Given the description of an element on the screen output the (x, y) to click on. 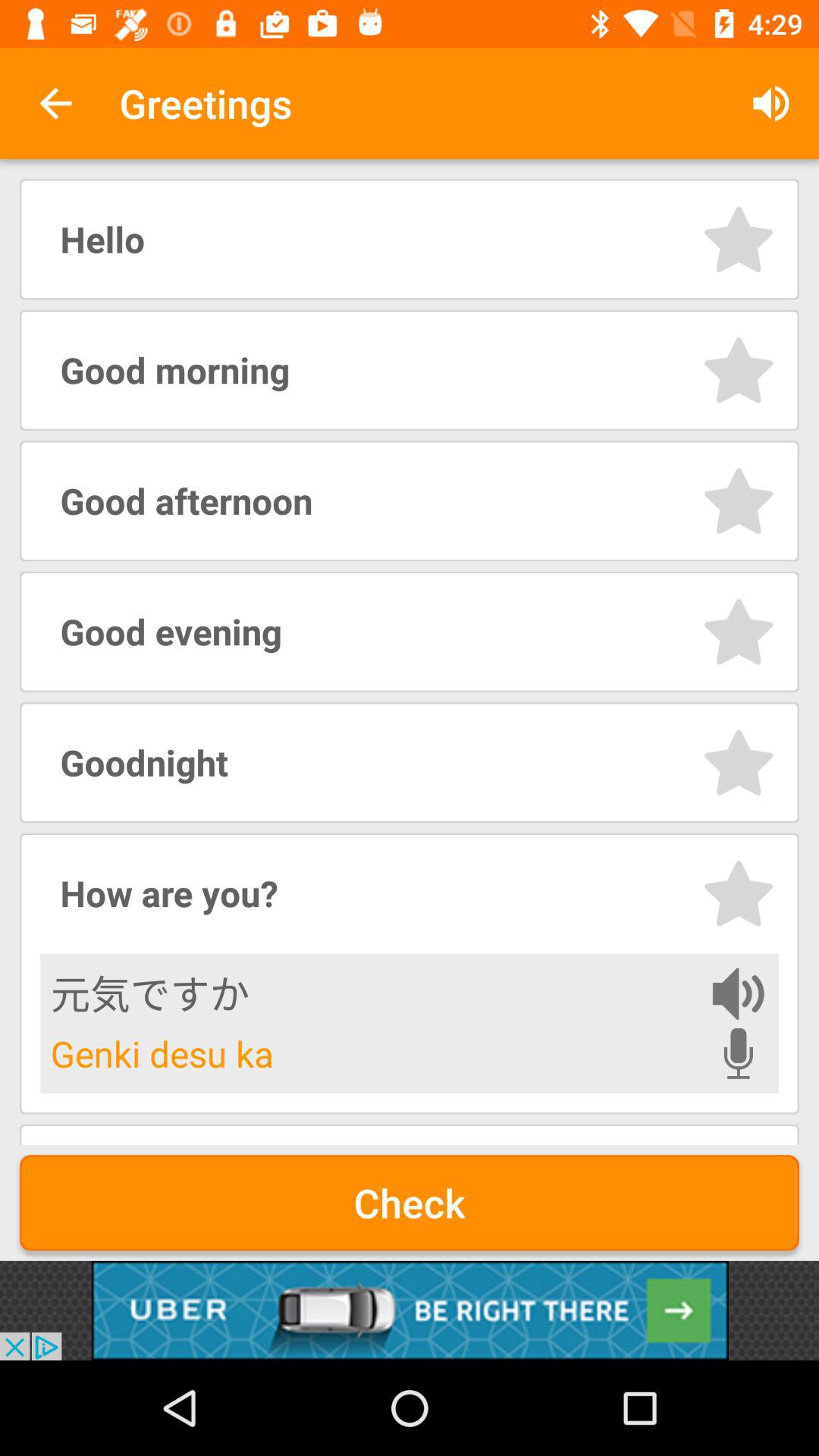
add option to favorites (738, 500)
